Given the description of an element on the screen output the (x, y) to click on. 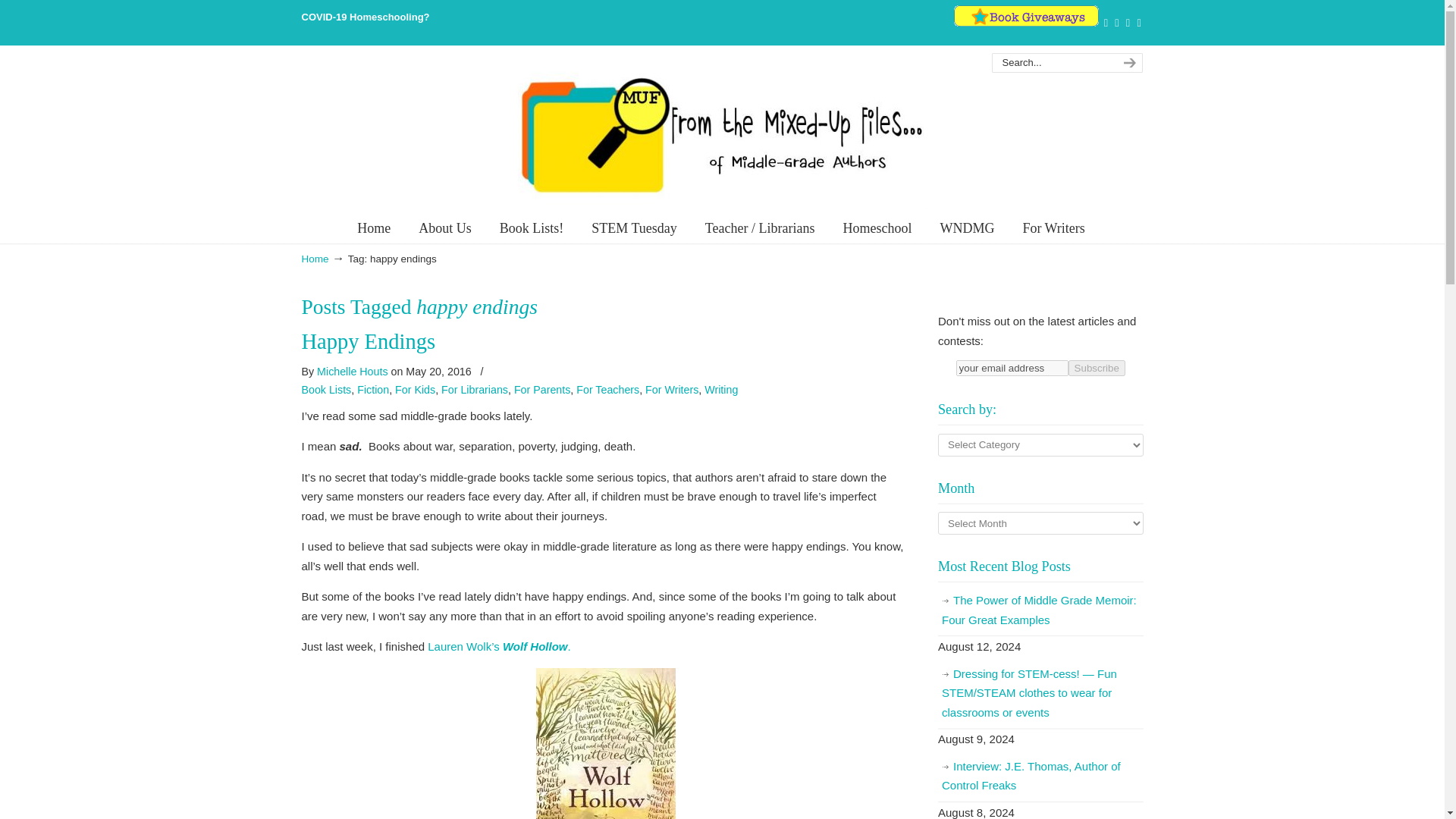
From The Mixed Up Files (721, 134)
search (1126, 62)
STEM Tuesday (634, 228)
Homeschool (876, 228)
Home (374, 228)
Book Lists! (531, 228)
Search... (1051, 62)
Subscribe (1096, 367)
Happy Endings (368, 341)
About Us (444, 228)
